Given the description of an element on the screen output the (x, y) to click on. 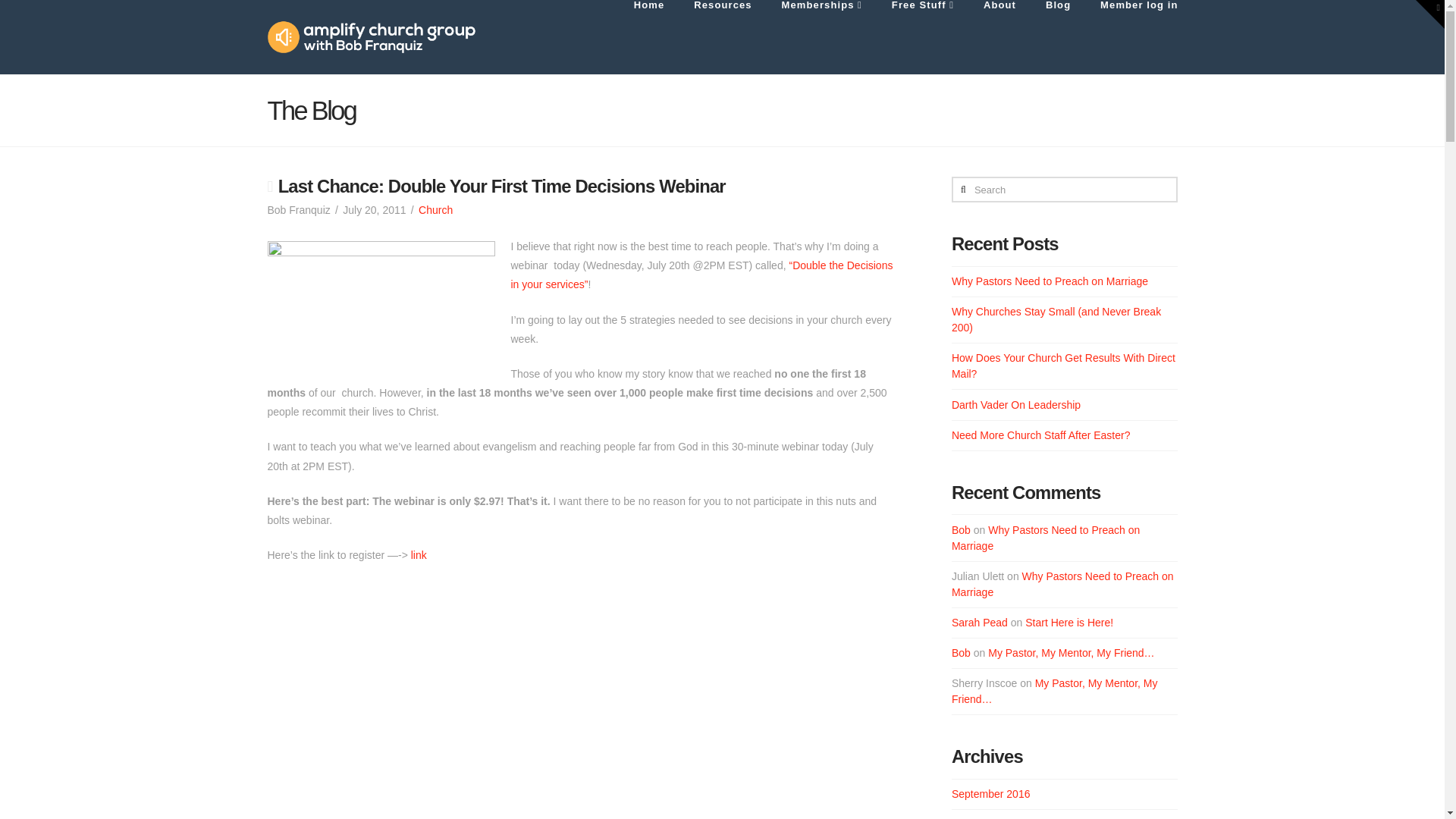
Need More Church Staff After Easter? (1041, 435)
Free Stuff (922, 37)
Why Pastors Need to Preach on Marriage (1062, 584)
Bob (961, 530)
link (418, 554)
Double your decisions banner (380, 308)
Why Pastors Need to Preach on Marriage (1050, 281)
Sarah Pead (979, 622)
Member log in (1130, 37)
Resources (721, 37)
Why Pastors Need to Preach on Marriage (1046, 538)
Bob (961, 653)
Darth Vader On Leadership (1016, 404)
Start Here is Here! (1069, 622)
Church (435, 209)
